Given the description of an element on the screen output the (x, y) to click on. 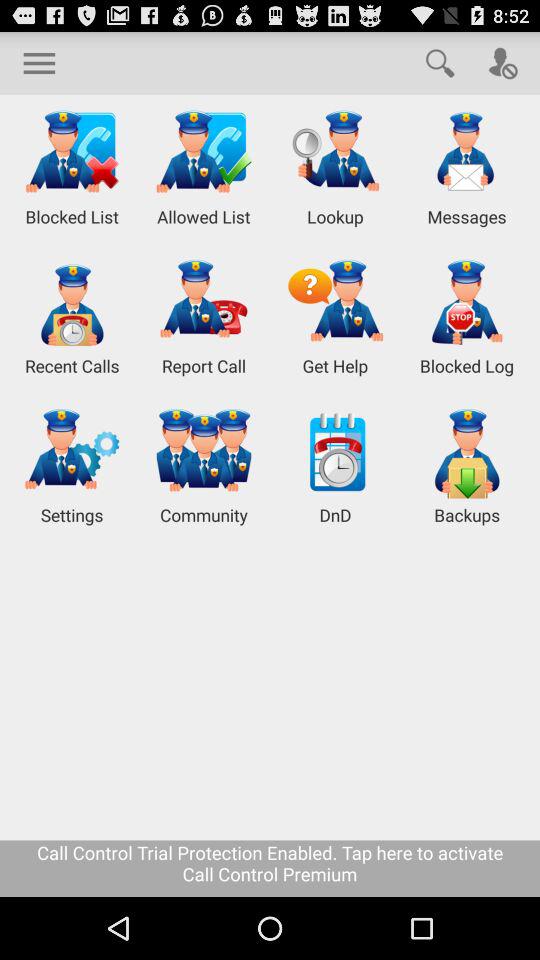
block someone (502, 62)
